Given the description of an element on the screen output the (x, y) to click on. 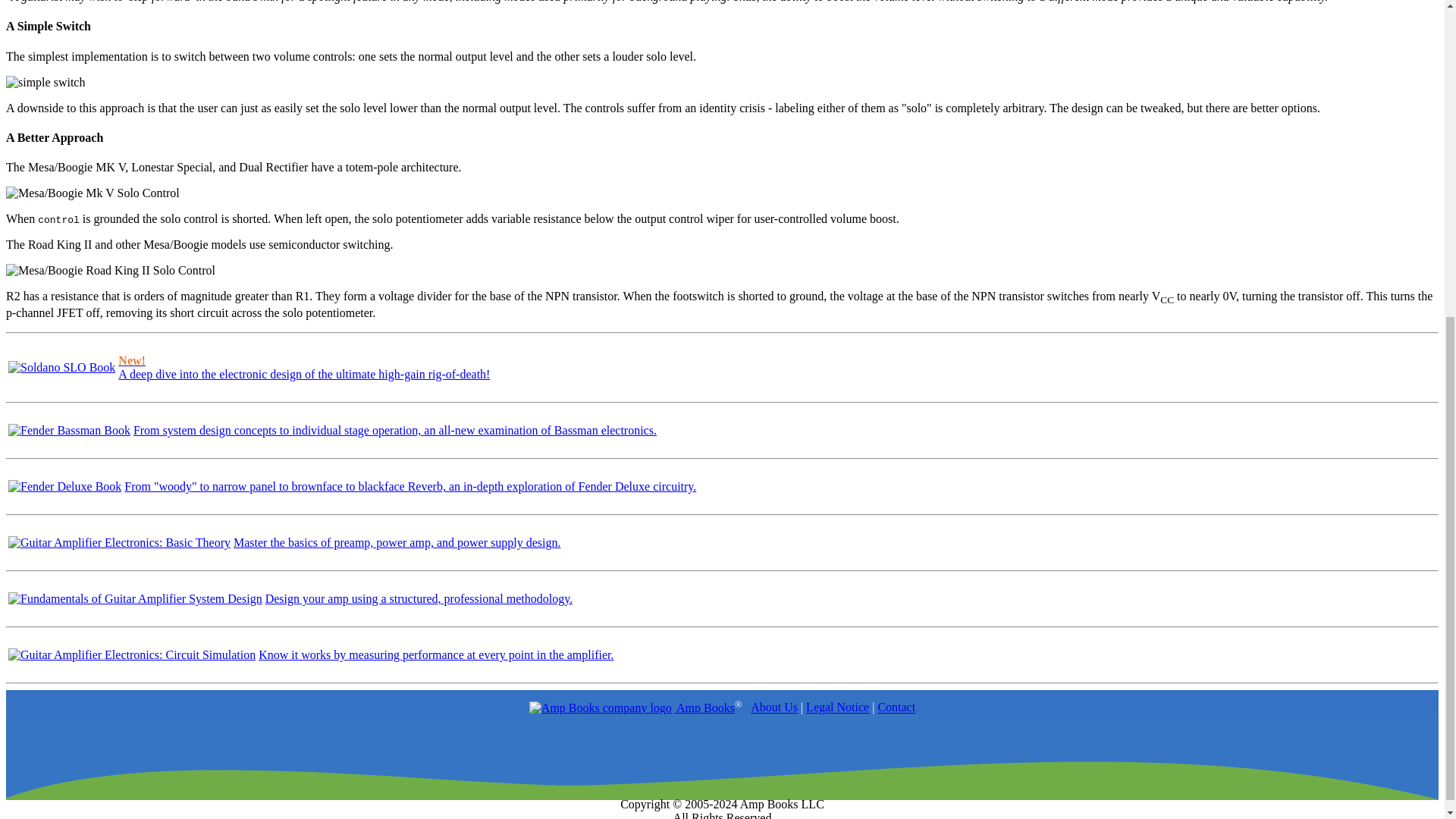
Legal Notice (837, 707)
Contact (896, 707)
Amp Books (632, 707)
About Us (774, 707)
